Given the description of an element on the screen output the (x, y) to click on. 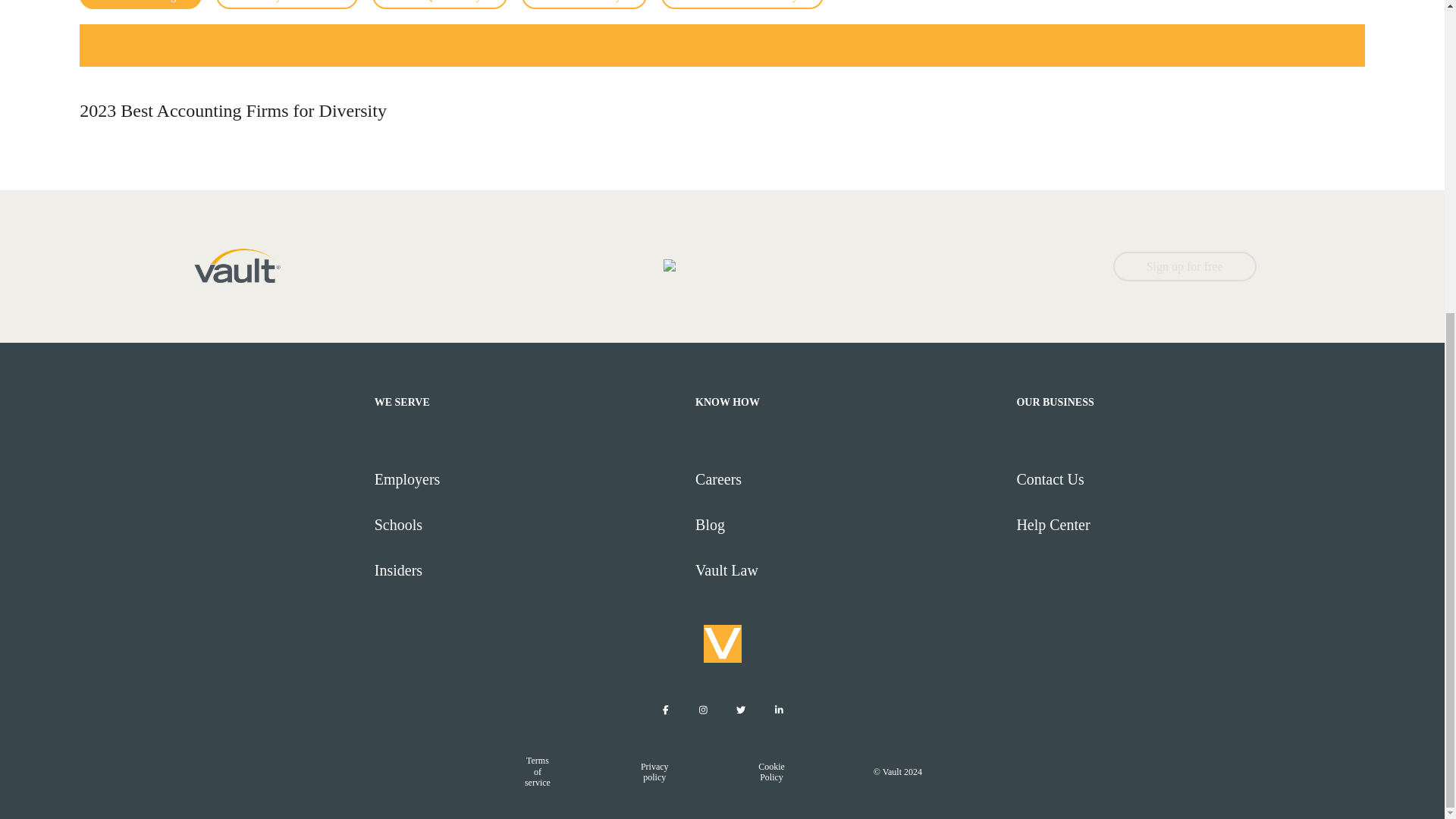
Overall Ranking (141, 4)
Contact Us (1170, 478)
Blog (849, 524)
Help Center (1170, 524)
Vault Law (849, 570)
Schools (528, 524)
Careers (849, 478)
Diversity for Women (285, 4)
Insiders (528, 570)
Overall Diversity (584, 4)
